Given the description of an element on the screen output the (x, y) to click on. 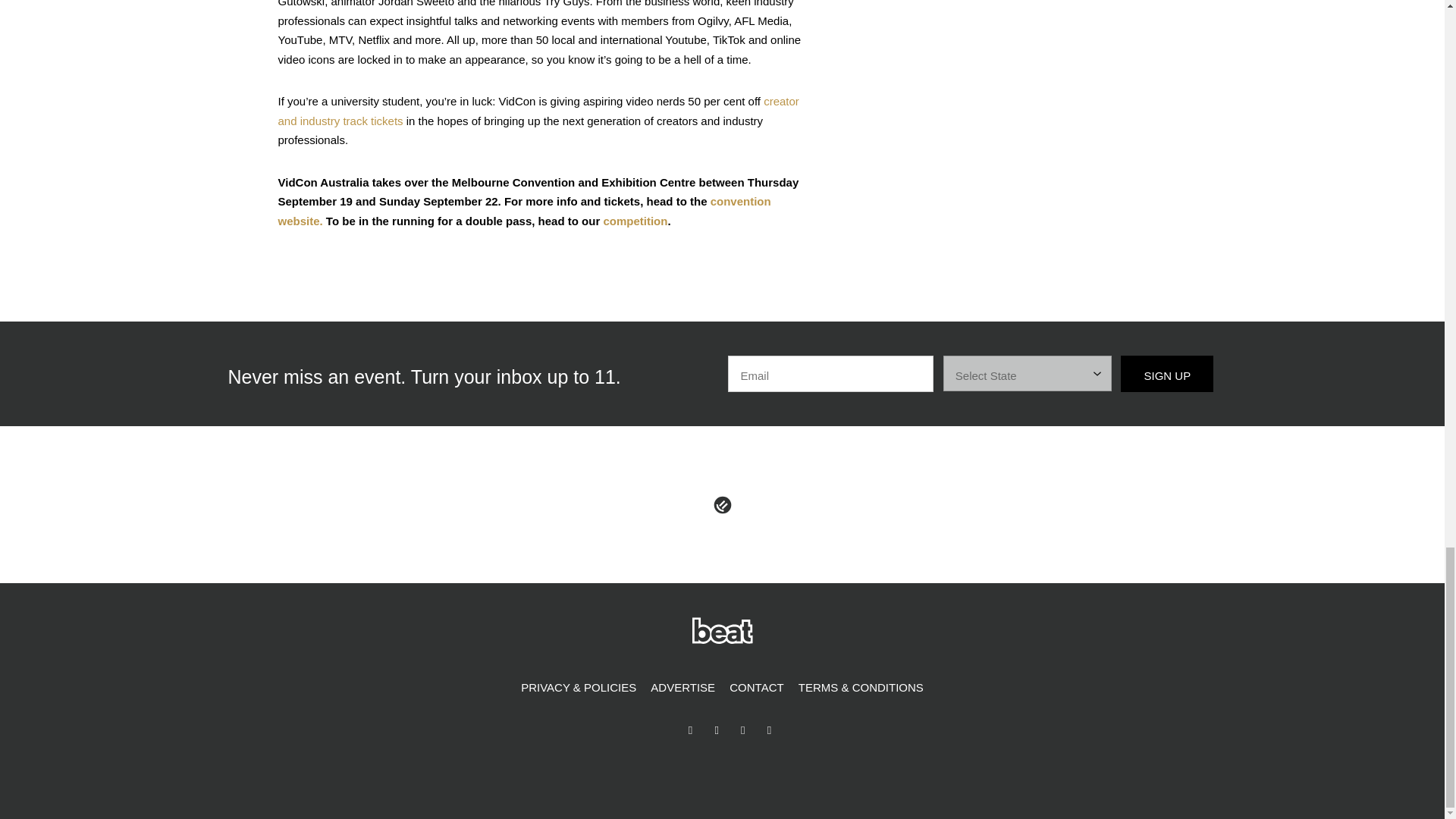
creator and industry track tickets (537, 111)
3rd party ad content (1052, 35)
convention website. (524, 210)
competition (634, 220)
ADVERTISE (682, 687)
CONTACT (756, 687)
SIGN UP (1166, 373)
